Given the description of an element on the screen output the (x, y) to click on. 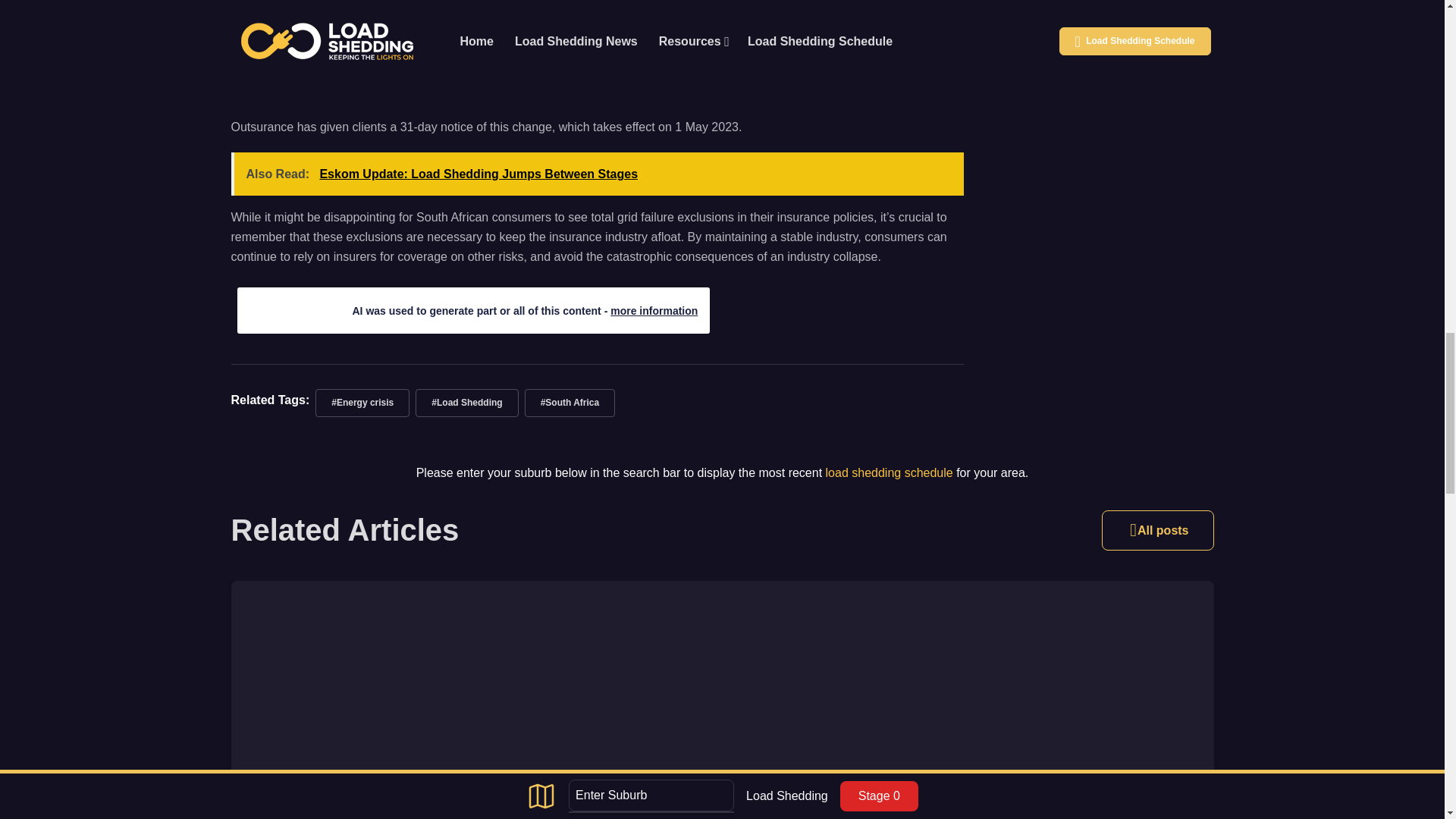
gridfailure - Loadshedding.com (596, 52)
